Given the description of an element on the screen output the (x, y) to click on. 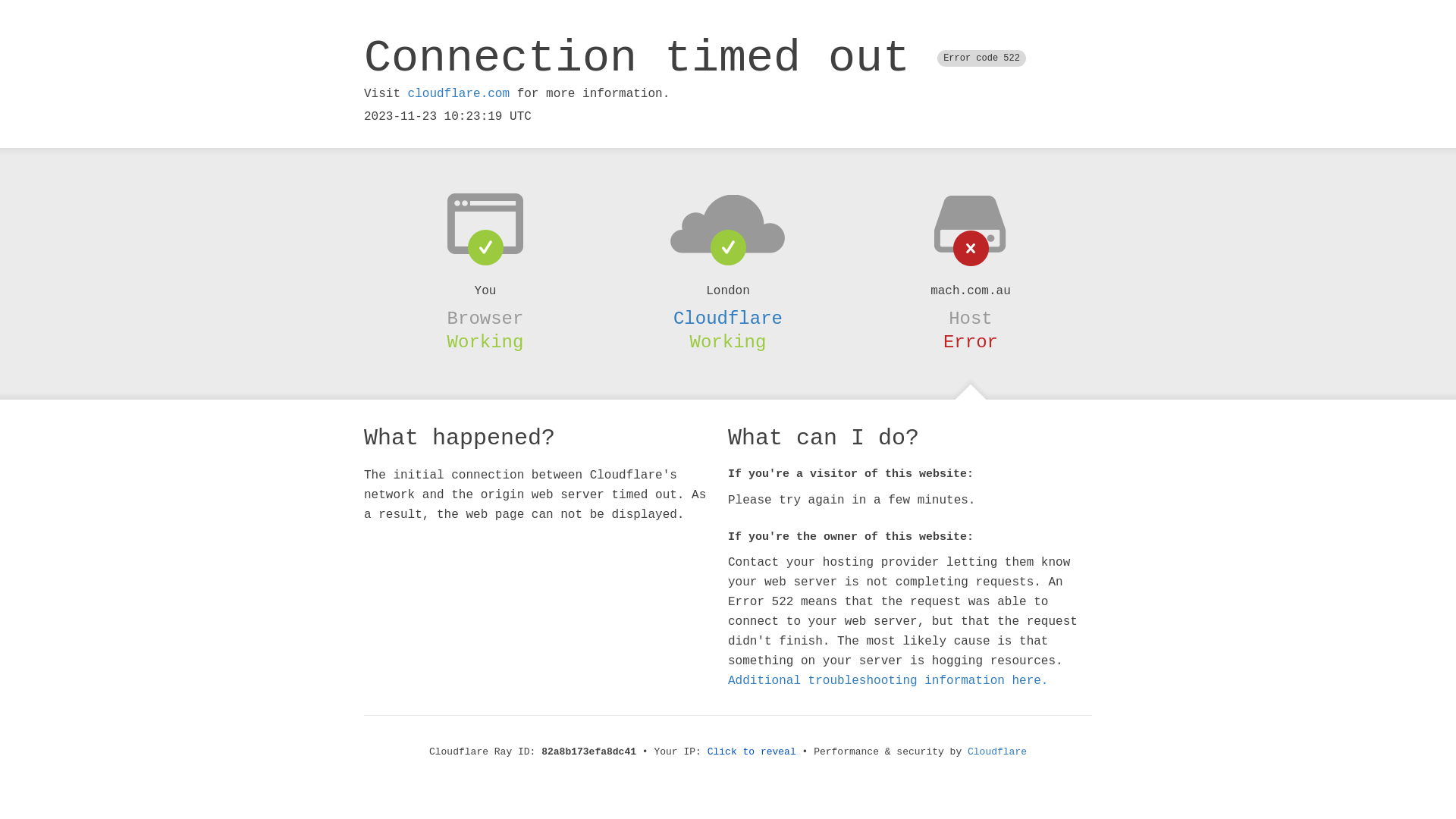
Additional troubleshooting information here. Element type: text (888, 680)
Cloudflare Element type: text (727, 318)
Cloudflare Element type: text (996, 751)
cloudflare.com Element type: text (458, 93)
Click to reveal Element type: text (751, 751)
